Given the description of an element on the screen output the (x, y) to click on. 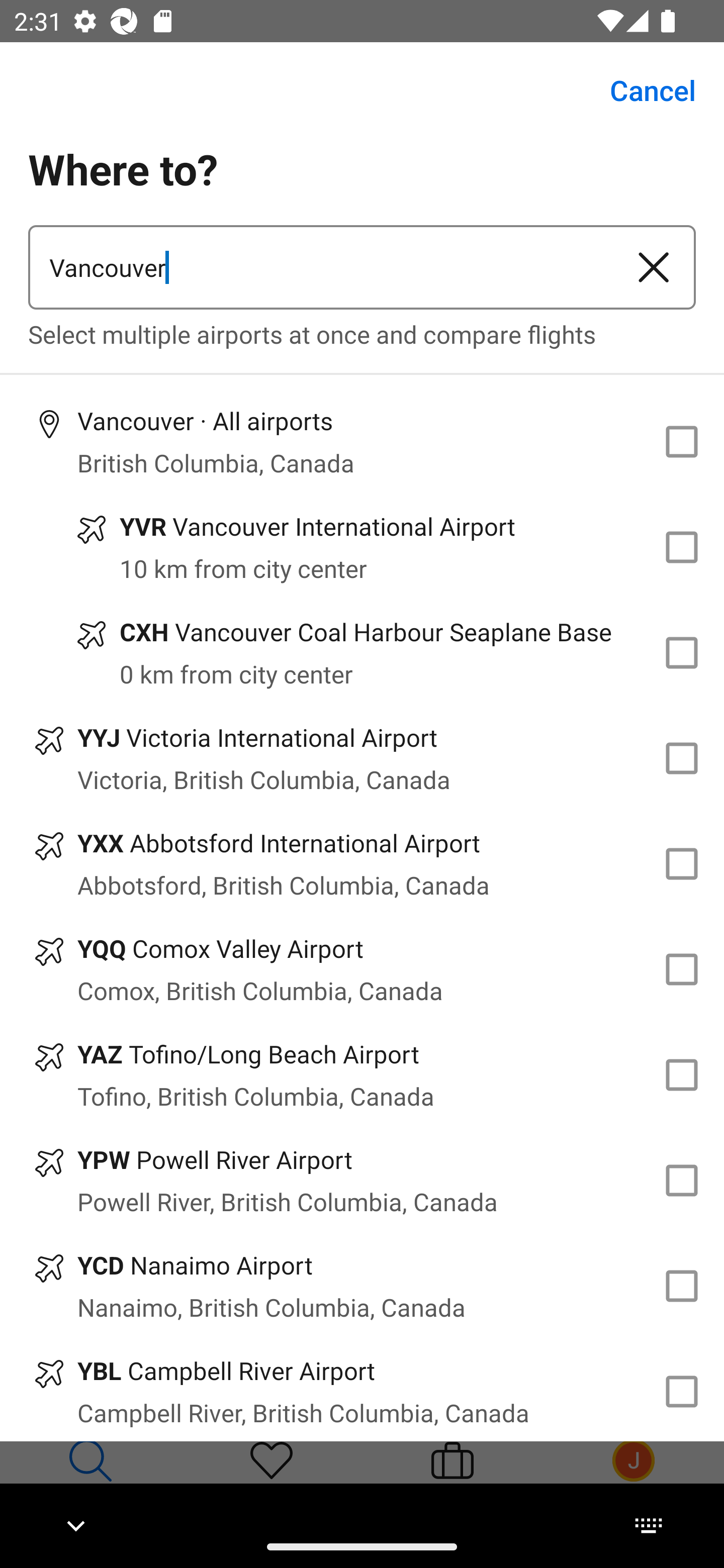
Cancel (641, 90)
Vancouver (319, 266)
Clear airport or city (653, 266)
Vancouver · All airports British Columbia, Canada (362, 440)
